Given the description of an element on the screen output the (x, y) to click on. 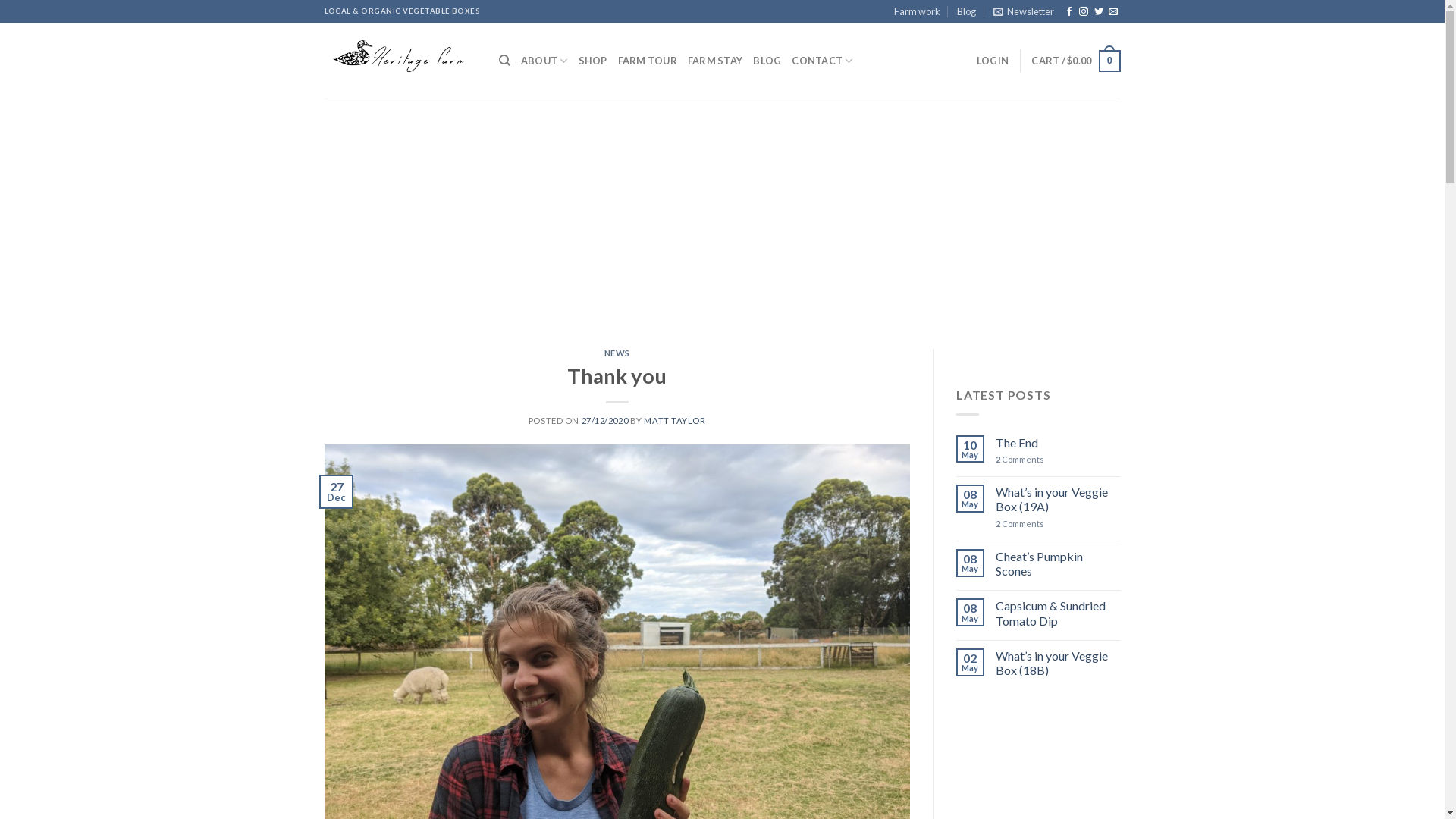
27/12/2020 Element type: text (604, 420)
The End Element type: text (1057, 442)
Newsletter Element type: text (1023, 11)
SHOP Element type: text (592, 60)
BLOG Element type: text (767, 60)
ABOUT Element type: text (543, 60)
Follow on Twitter Element type: hover (1098, 11)
CONTACT Element type: text (821, 60)
Follow on Instagram Element type: hover (1083, 11)
2 Comments Element type: text (1057, 459)
FARM TOUR Element type: text (647, 60)
Blog Element type: text (966, 11)
MATT TAYLOR Element type: text (674, 420)
Farm work Element type: text (917, 11)
LOGIN Element type: text (992, 60)
2 Comments Element type: text (1057, 523)
Advertisement Element type: hover (721, 212)
Send us an email Element type: hover (1112, 11)
Heritage Farm Element type: hover (400, 60)
Capsicum & Sundried Tomato Dip Element type: text (1057, 612)
Follow on Facebook Element type: hover (1068, 11)
NEWS Element type: text (617, 352)
LOCAL & ORGANIC VEGETABLE BOXES Element type: text (402, 11)
FARM STAY Element type: text (714, 60)
CART / $0.00
0 Element type: text (1075, 61)
